Given the description of an element on the screen output the (x, y) to click on. 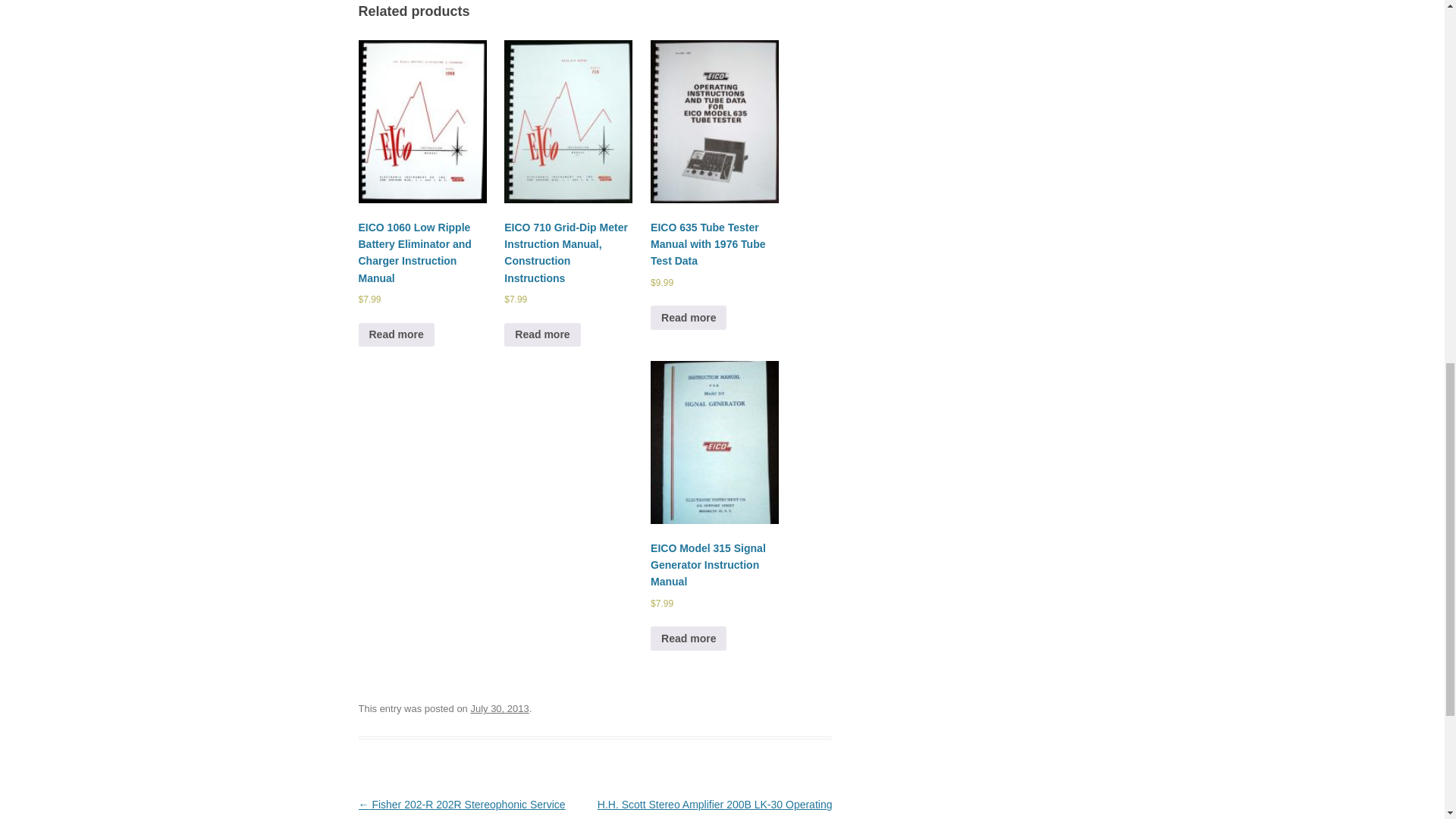
Read more (688, 317)
9:49 AM (499, 708)
Read more (541, 334)
Read more (688, 638)
Read more (395, 334)
July 30, 2013 (499, 708)
